Given the description of an element on the screen output the (x, y) to click on. 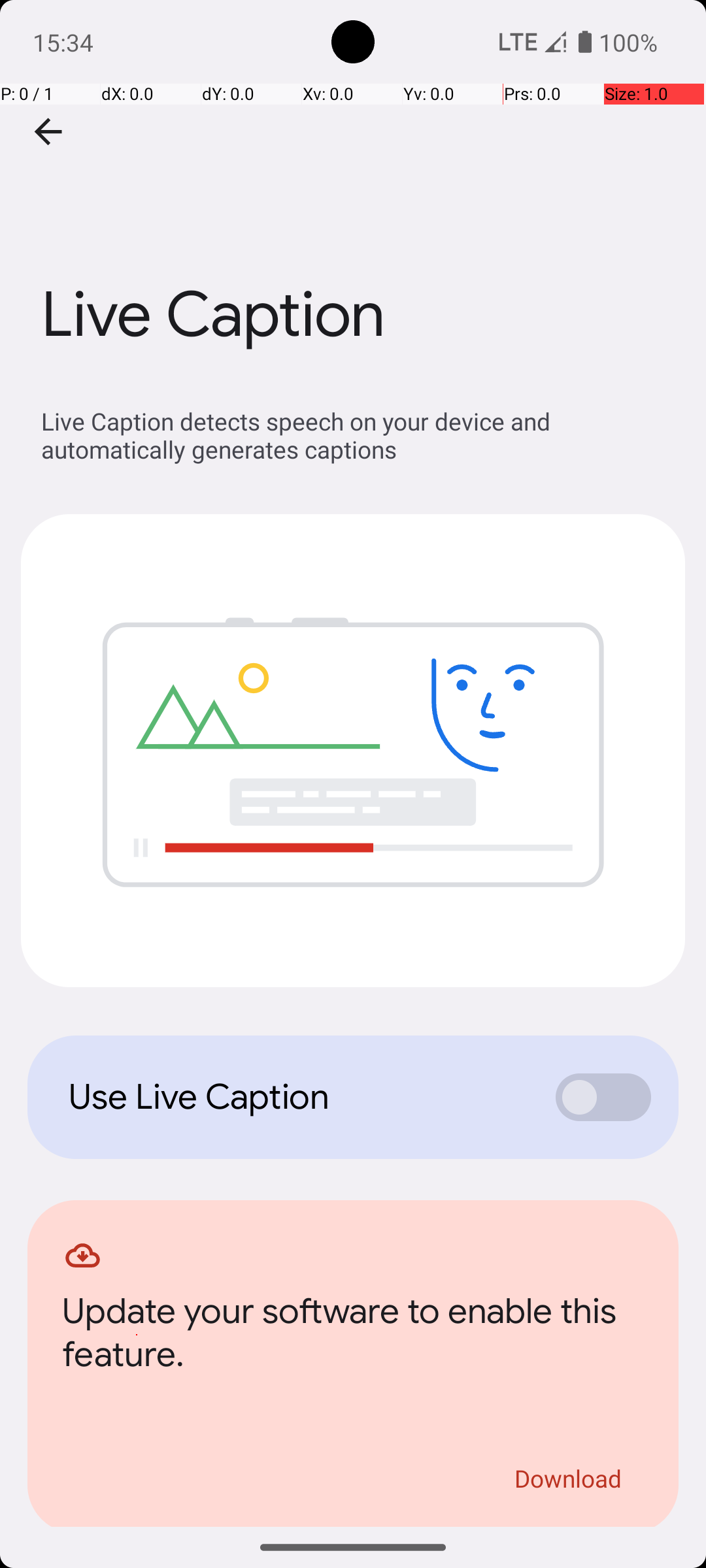
Live Caption detects speech on your device and automatically generates captions Element type: android.widget.TextView (359, 434)
Use Live Caption Element type: android.widget.TextView (298, 1096)
Update your software to enable this feature. Element type: android.widget.TextView (352, 1336)
